Given the description of an element on the screen output the (x, y) to click on. 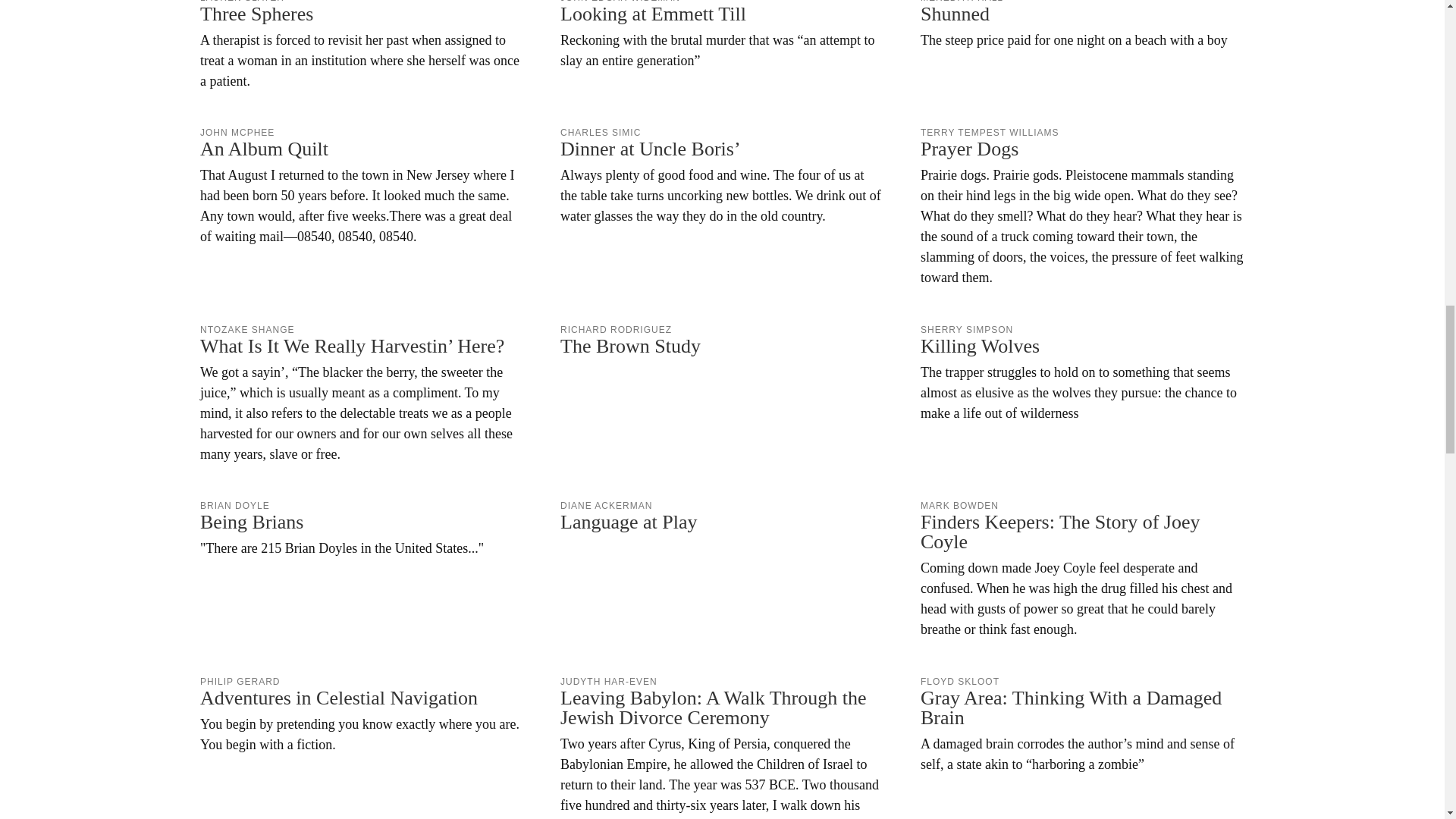
Looking at Emmett Till (721, 35)
Shunned (1082, 25)
Three Spheres (362, 45)
An Album Quilt (362, 186)
